Given the description of an element on the screen output the (x, y) to click on. 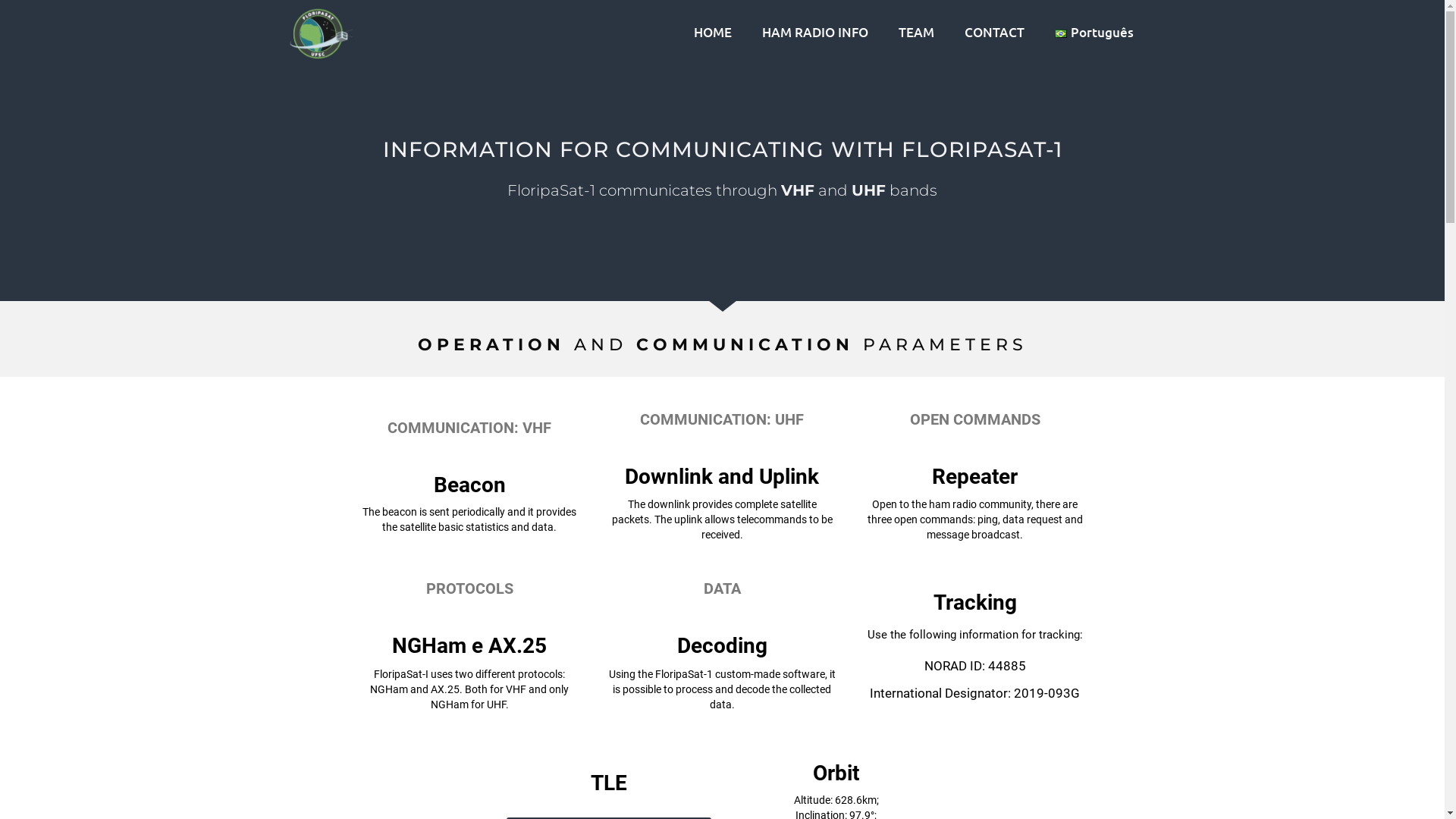
HAM RADIO INFO Element type: text (814, 32)
HOME Element type: text (712, 32)
CONTACT Element type: text (994, 32)
TEAM Element type: text (916, 32)
